Given the description of an element on the screen output the (x, y) to click on. 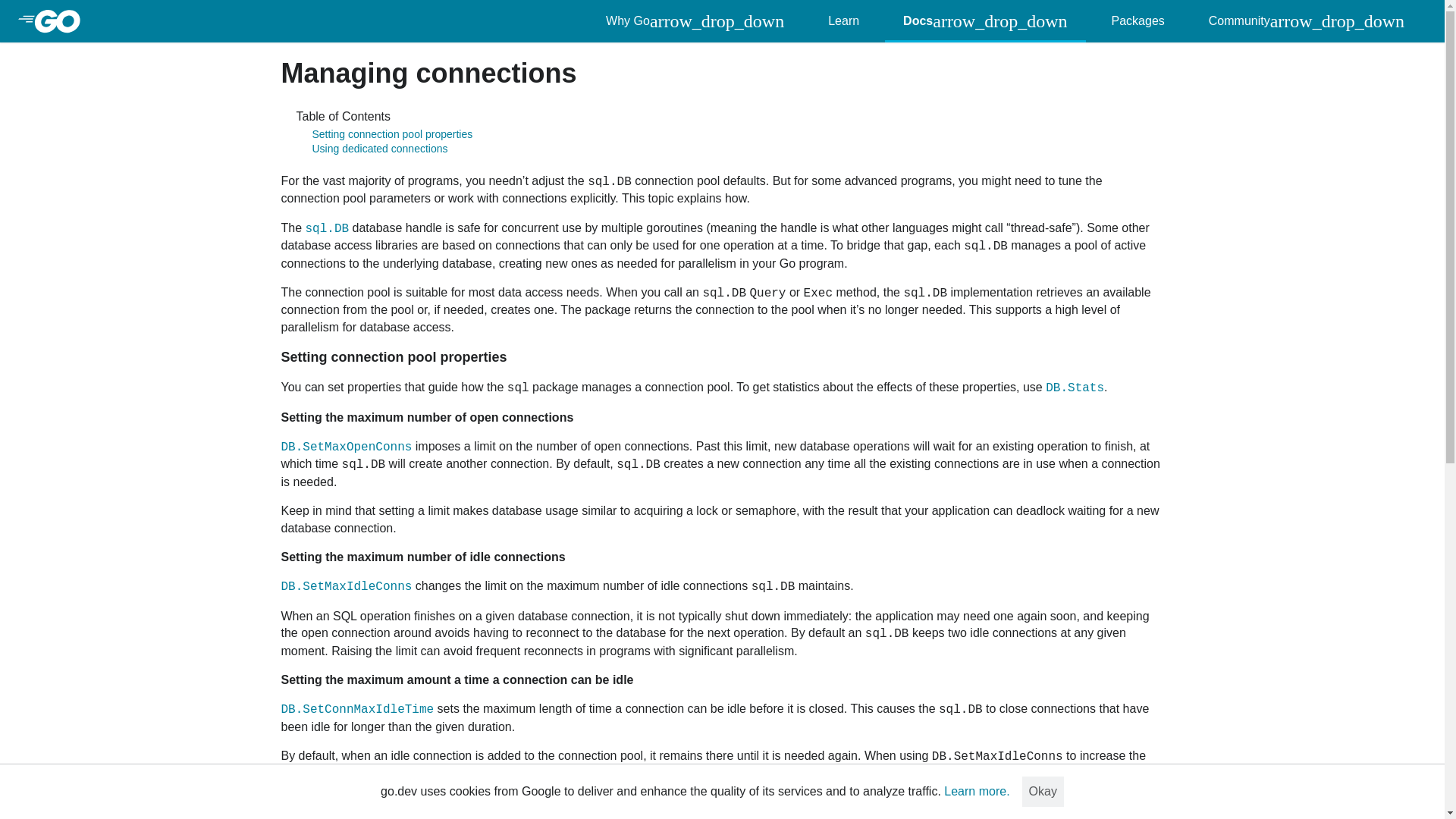
Packages (1137, 21)
Skip to Main Content (175, 21)
Learn (843, 21)
